Given the description of an element on the screen output the (x, y) to click on. 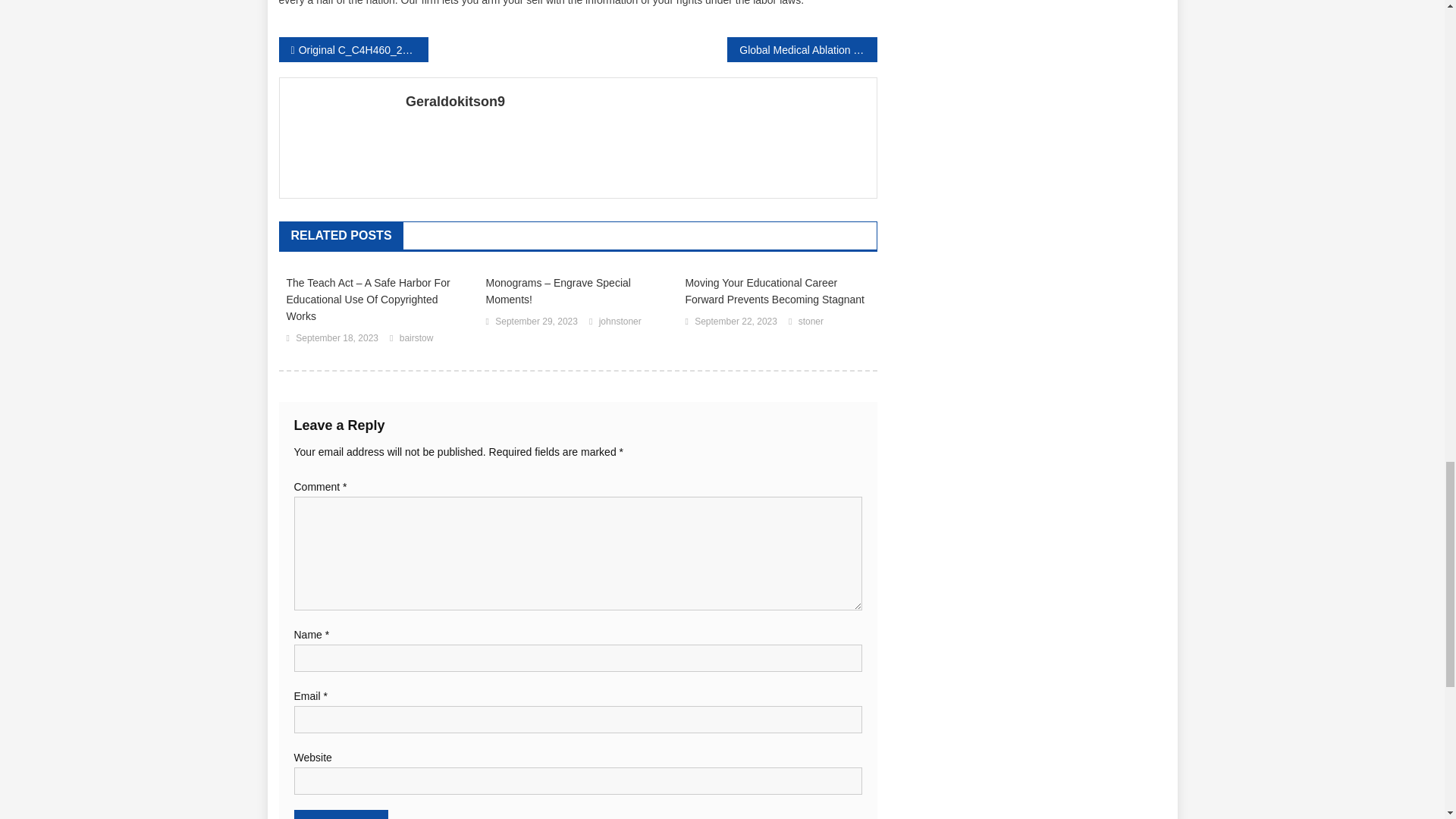
bairstow (415, 338)
johnstoner (620, 321)
Post Comment (341, 814)
Geraldokitson9 (635, 101)
September 18, 2023 (336, 338)
September 29, 2023 (536, 321)
